Given the description of an element on the screen output the (x, y) to click on. 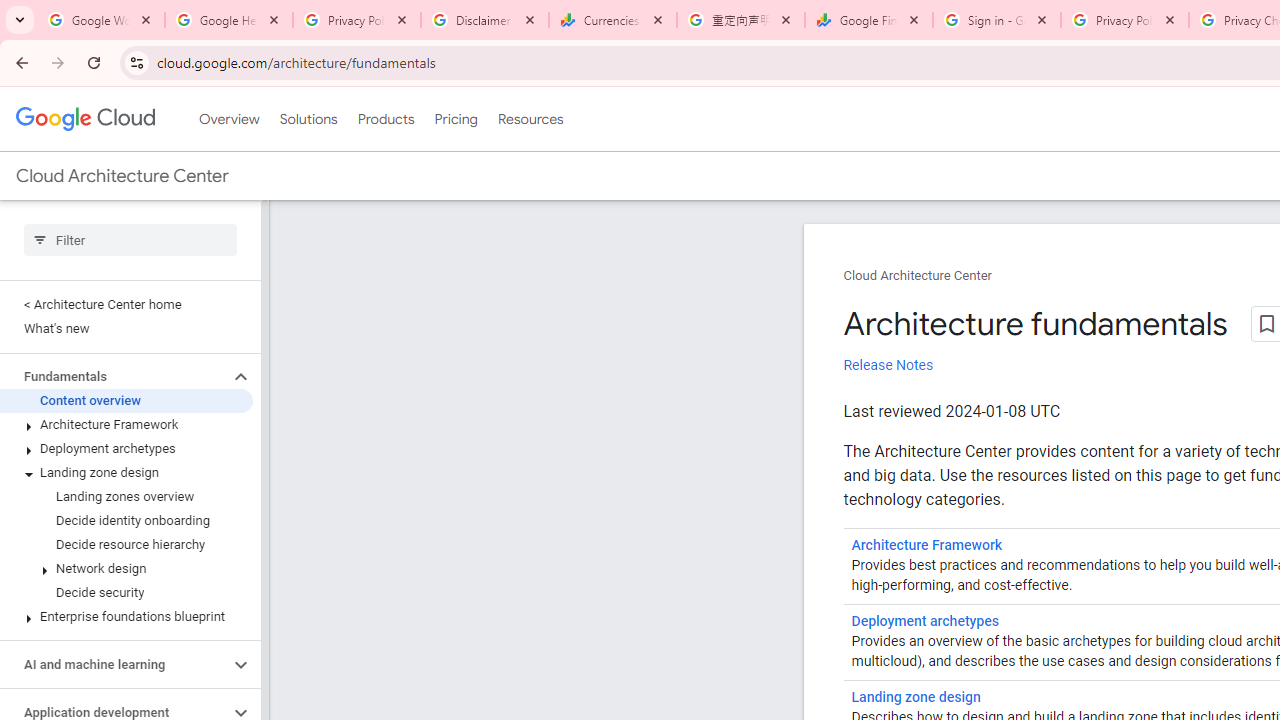
Sign in - Google Accounts (997, 20)
Fundamentals (114, 376)
Pricing (455, 119)
Architecture Framework (927, 545)
Deployment archetypes (126, 448)
Google Workspace Admin Community (101, 20)
AI and machine learning (114, 664)
Landing zones overview (126, 497)
Architecture Framework (126, 425)
Type to filter (130, 239)
Decide resource hierarchy (126, 544)
